Given the description of an element on the screen output the (x, y) to click on. 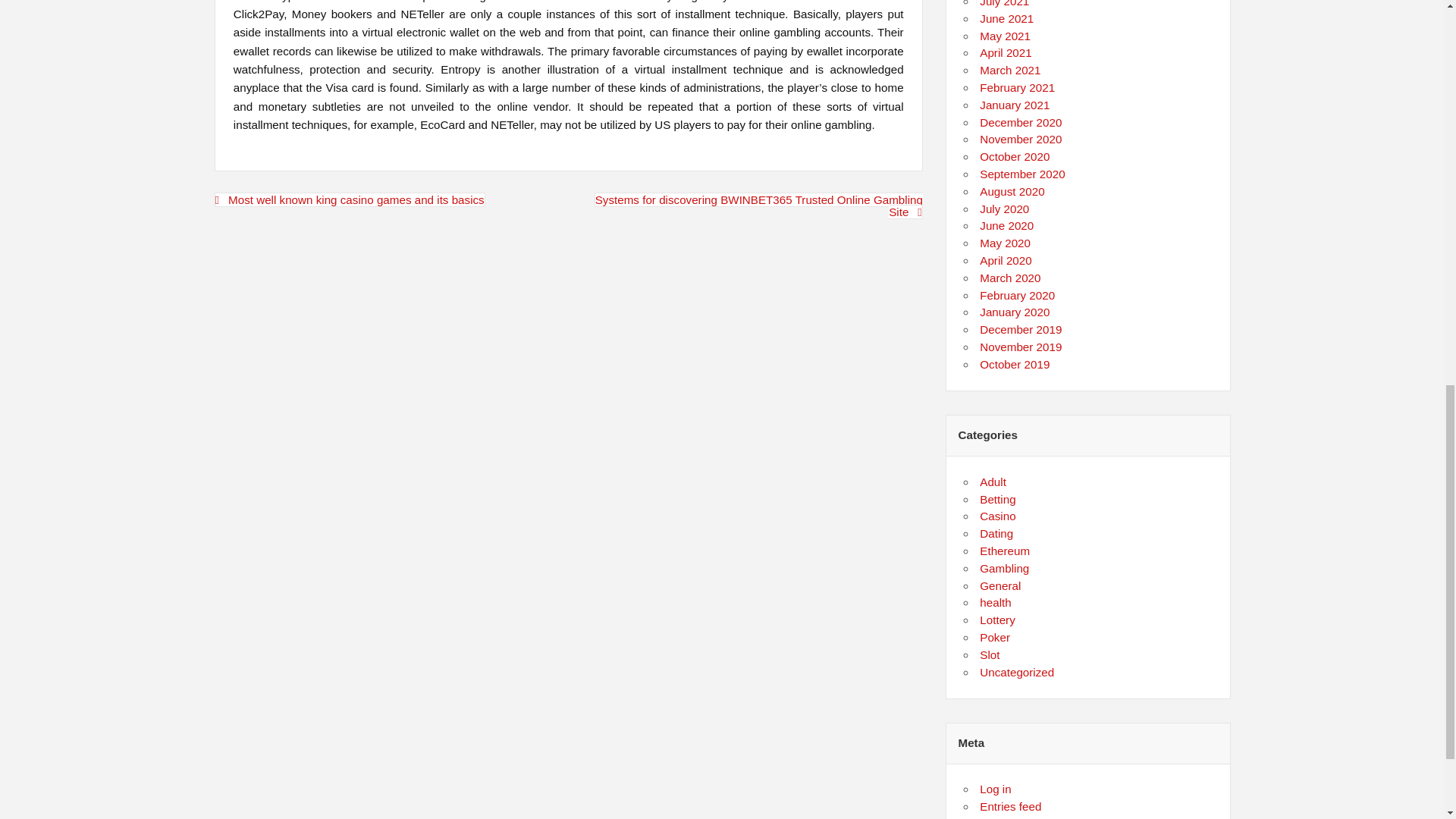
Most well known king casino games and its basics (349, 199)
